Given the description of an element on the screen output the (x, y) to click on. 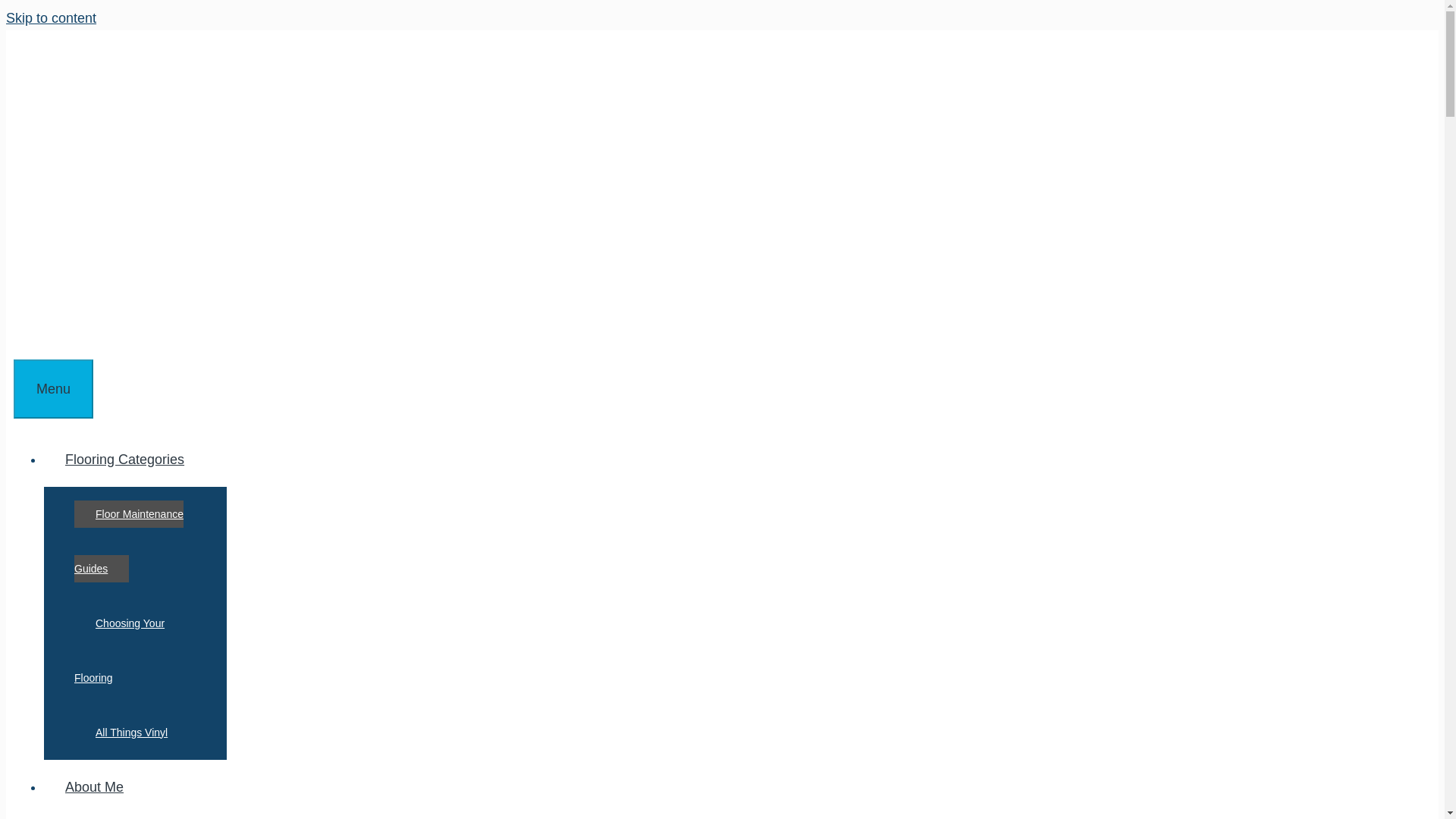
Choosing Your Flooring (119, 650)
Skip to content (50, 17)
All Things Vinyl (131, 732)
Skip to content (50, 17)
About Me (93, 786)
Menu (53, 388)
Floor Maintenance Guides (128, 541)
Flooring Categories (135, 459)
